Given the description of an element on the screen output the (x, y) to click on. 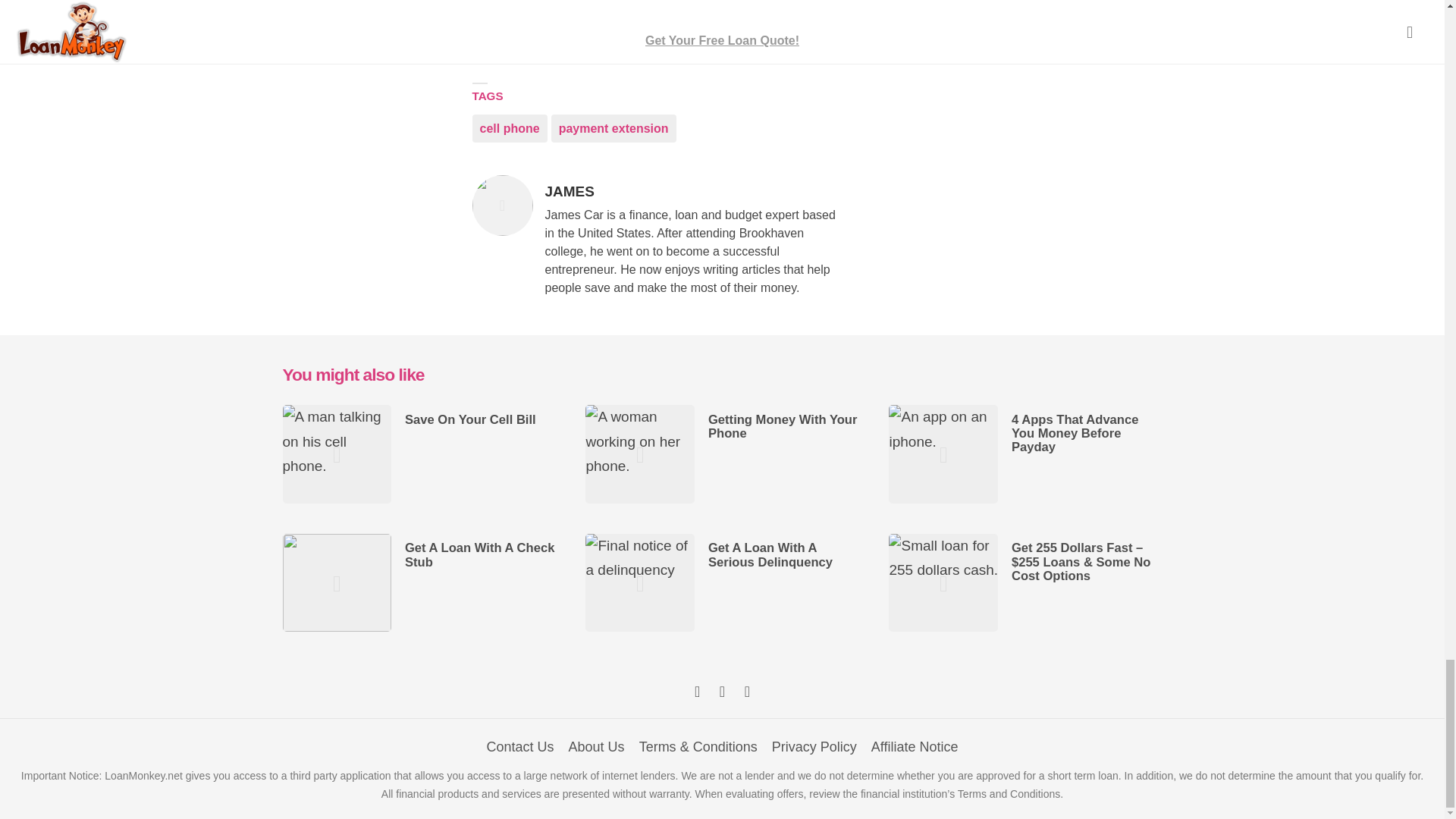
Get A Loan With A Serious Delinquency (769, 554)
payment extension (614, 128)
Privacy Policy (814, 746)
Getting Money With Your Phone (782, 426)
Get A Loan With A Check Stub (479, 554)
Affiliate Notice (914, 746)
About Us (596, 746)
4 Apps That Advance You Money Before Payday (1074, 433)
Save On Your Cell Bill (469, 419)
Contact Us (520, 746)
cell phone (509, 128)
